Given the description of an element on the screen output the (x, y) to click on. 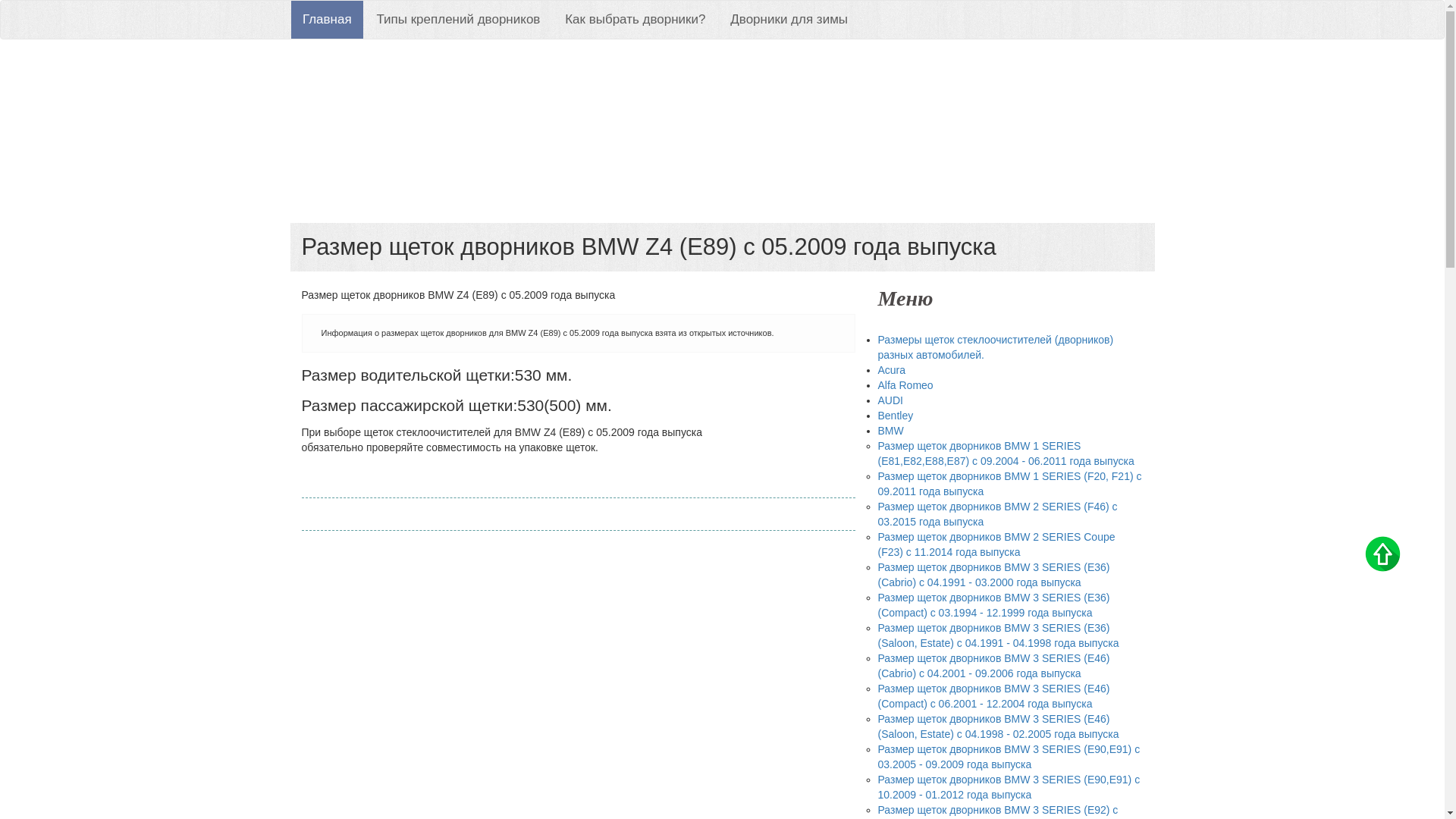
Acura Element type: text (892, 370)
AUDI Element type: text (890, 400)
BMW Element type: text (890, 430)
Alfa Romeo Element type: text (905, 385)
Advertisement Element type: hover (721, 131)
Bentley Element type: text (895, 415)
